Given the description of an element on the screen output the (x, y) to click on. 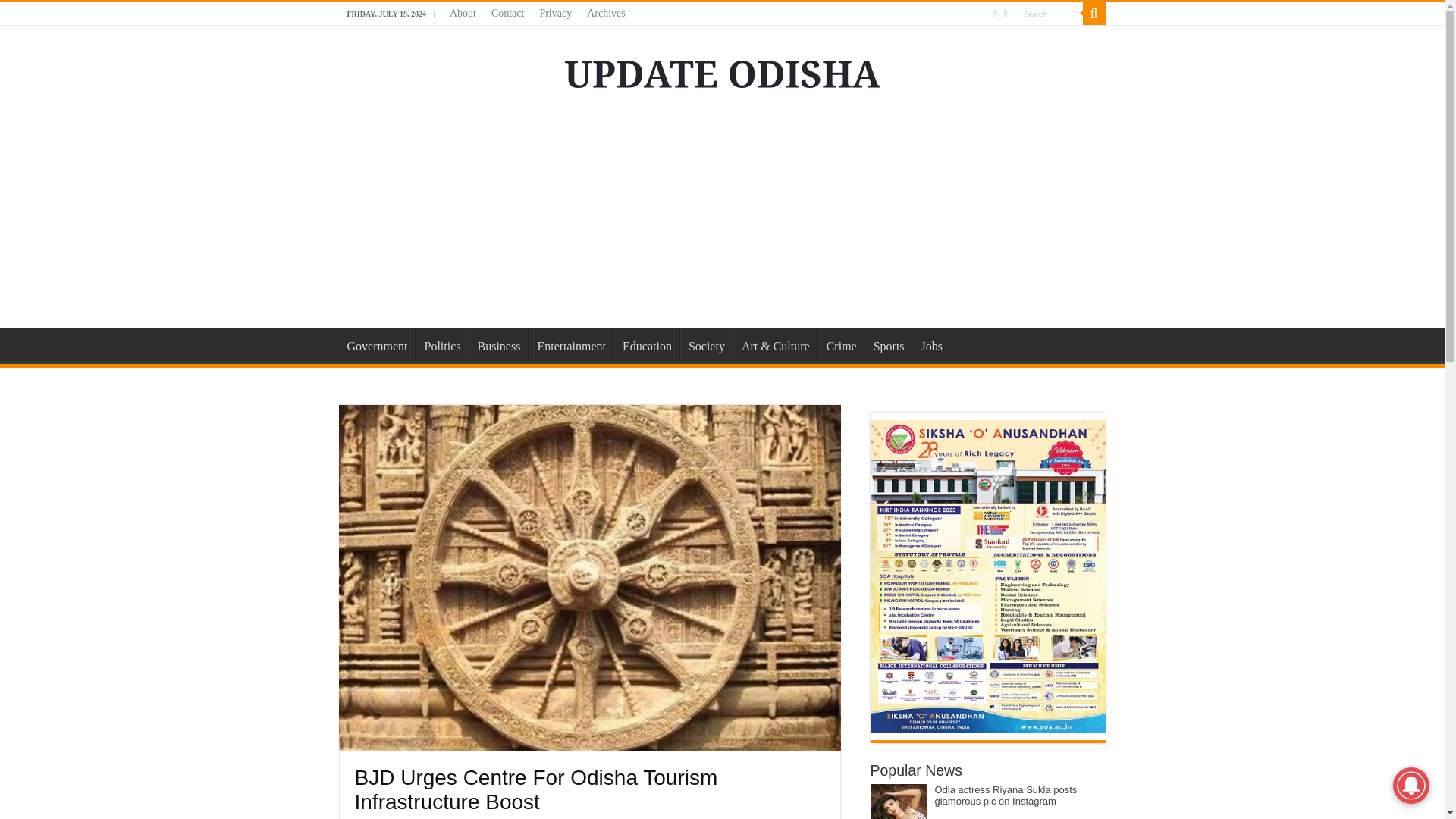
Entertainment (570, 344)
Society (705, 344)
Business (497, 344)
Archives (606, 13)
Update Odisha-Odisha News I Latest News (721, 70)
Privacy (555, 13)
About (462, 13)
Contact (507, 13)
Search (1048, 13)
Search (1048, 13)
Jobs (931, 344)
Sports (888, 344)
Education (646, 344)
Politics (440, 344)
Crime (841, 344)
